Given the description of an element on the screen output the (x, y) to click on. 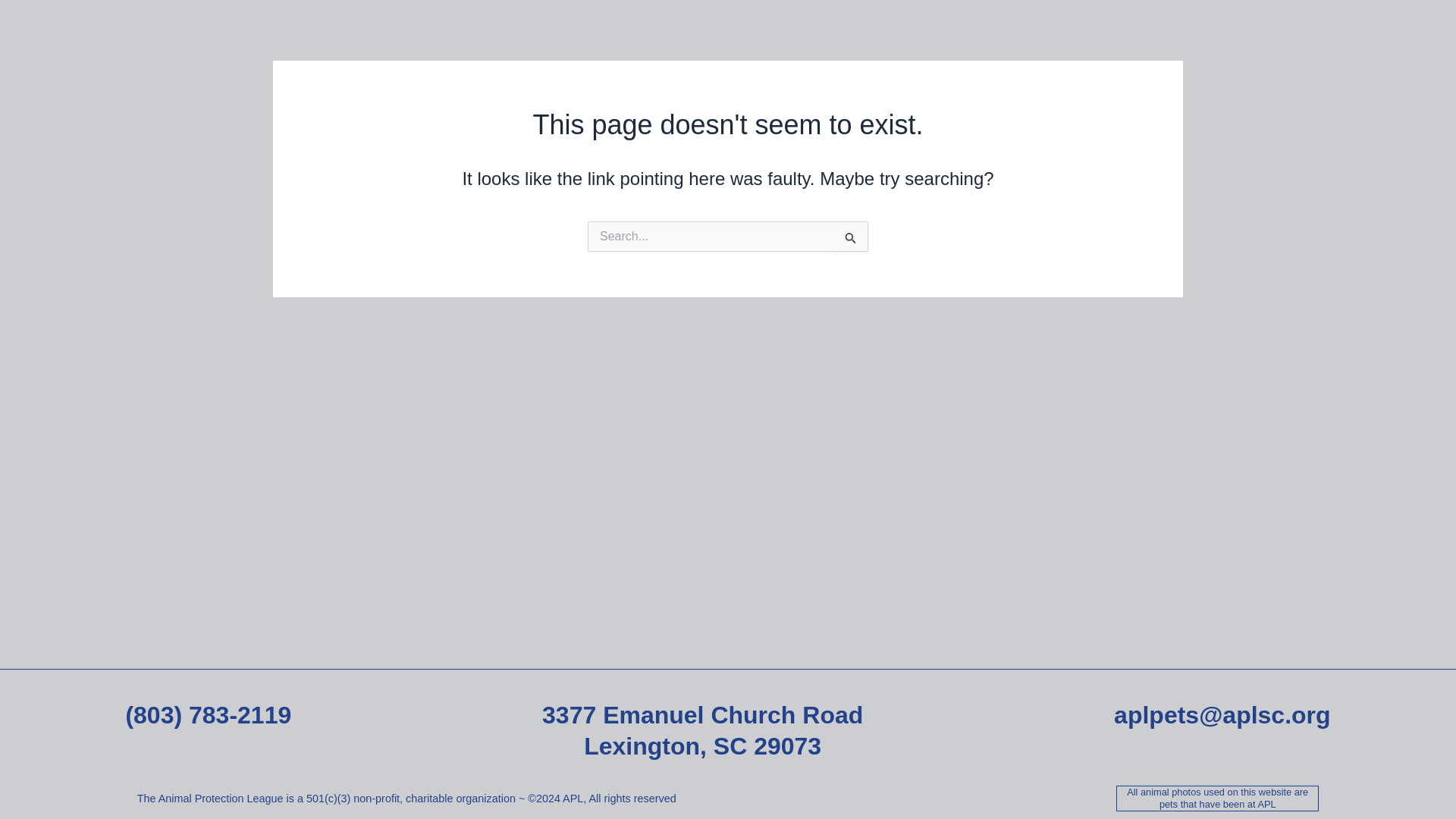
Search (850, 237)
Search (850, 237)
Search (850, 237)
